Given the description of an element on the screen output the (x, y) to click on. 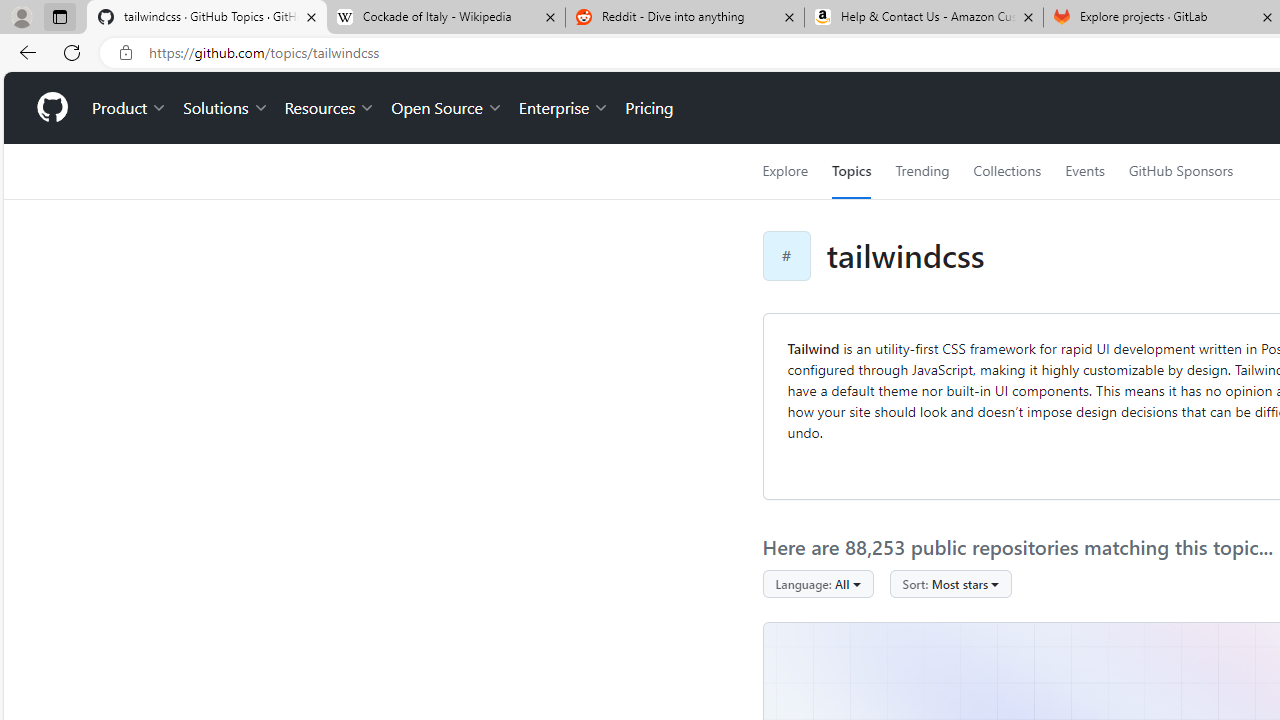
Open Source (446, 107)
Explore (784, 171)
Sort: Most stars (950, 584)
Solutions (225, 107)
Resources (330, 107)
Resources (330, 107)
Product (130, 107)
Cockade of Italy - Wikipedia (445, 17)
Language: All (817, 584)
